Given the description of an element on the screen output the (x, y) to click on. 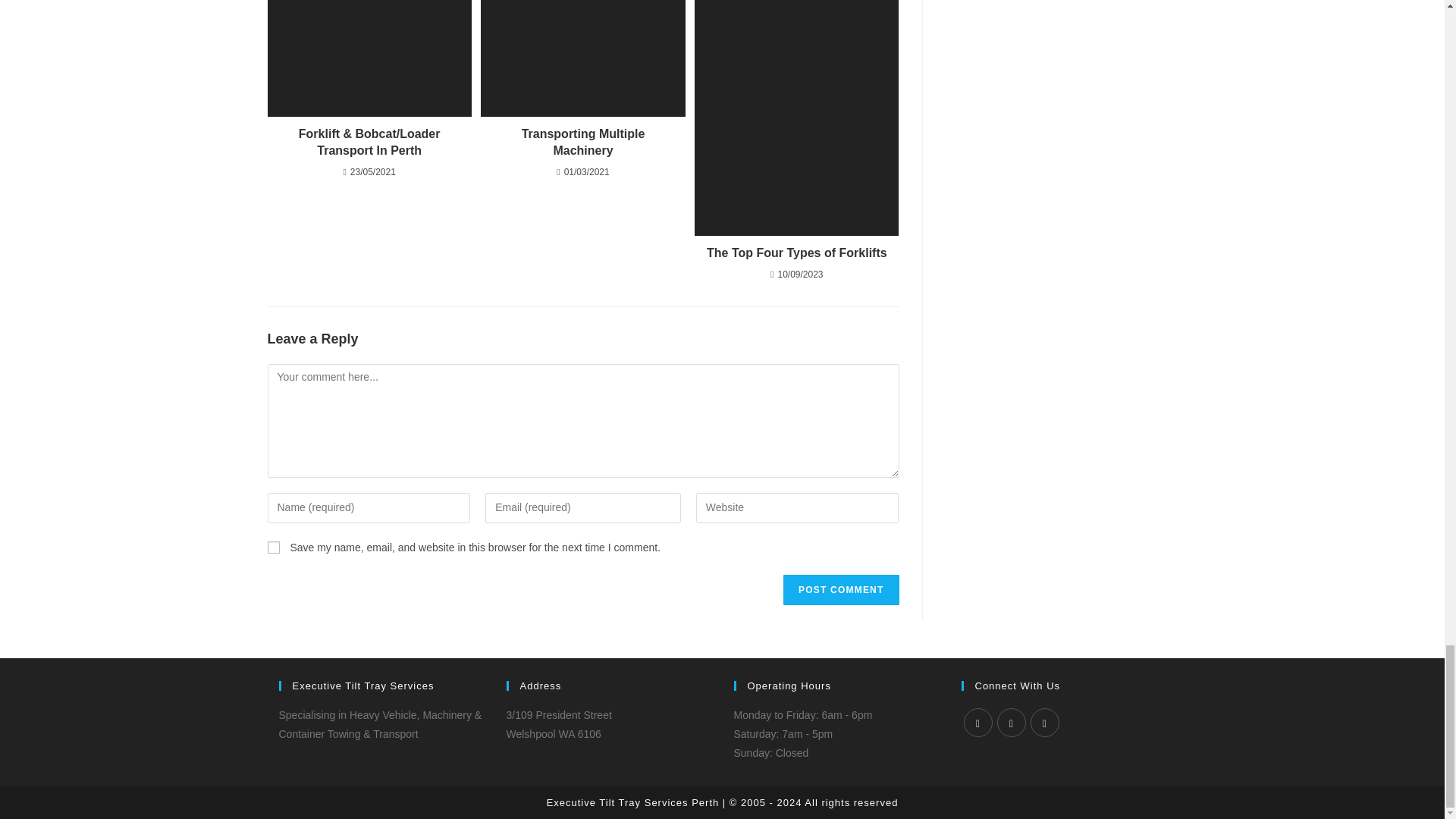
Post Comment (840, 589)
yes (272, 547)
